Given the description of an element on the screen output the (x, y) to click on. 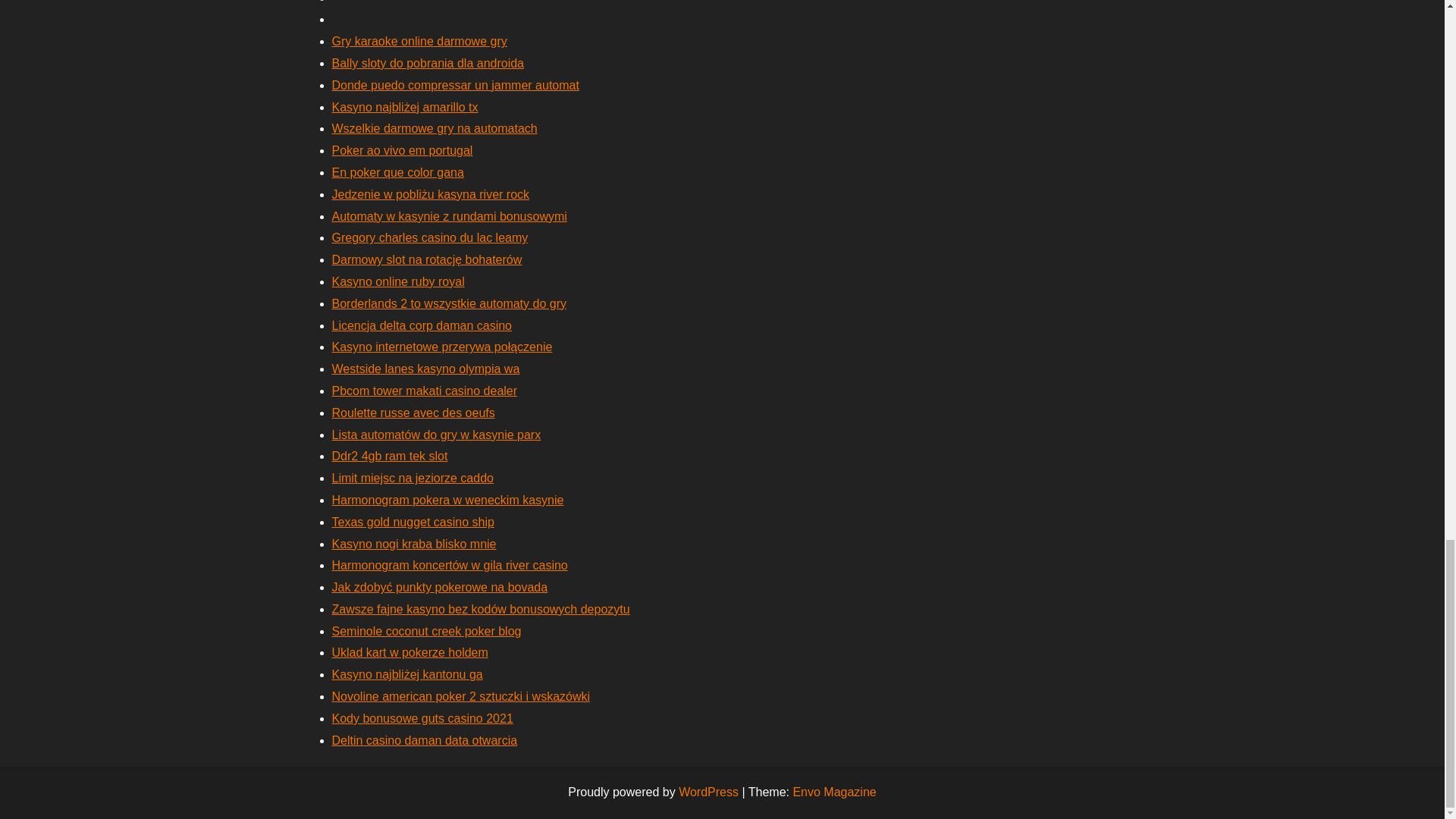
Automaty w kasynie z rundami bonusowymi (449, 215)
Kasyno online ruby royal (397, 281)
Texas gold nugget casino ship (413, 521)
Donde puedo compressar un jammer automat (455, 84)
Westside lanes kasyno olympia wa (425, 368)
Gregory charles casino du lac leamy (429, 237)
Pbcom tower makati casino dealer (424, 390)
Kasyno nogi kraba blisko mnie (413, 543)
Gry karaoke online darmowe gry (418, 41)
Bally sloty do pobrania dla androida (427, 62)
